Given the description of an element on the screen output the (x, y) to click on. 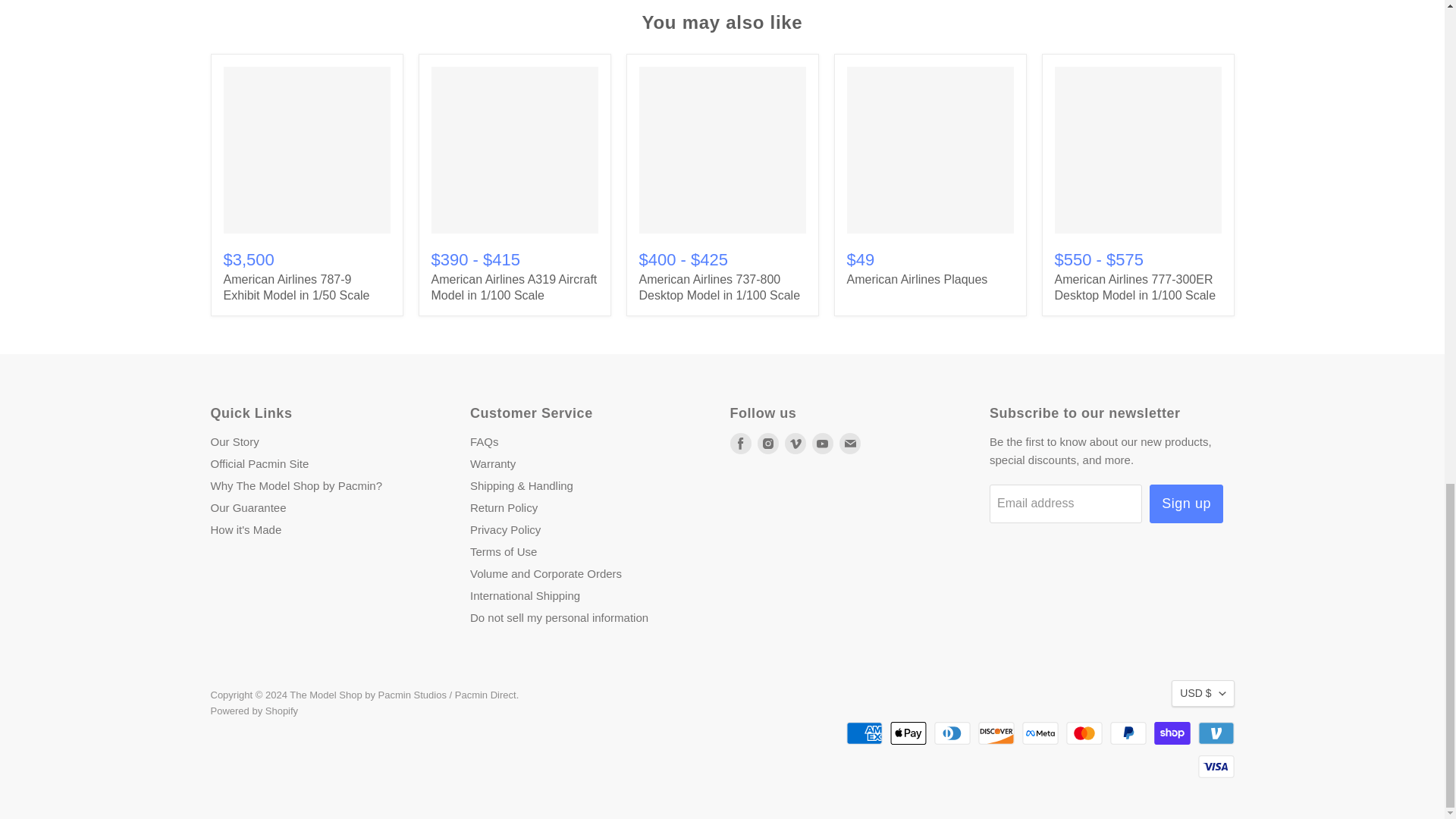
Youtube (821, 443)
Apple Pay (907, 732)
Facebook (740, 443)
Vimeo (794, 443)
American Express (863, 732)
Email (849, 443)
Instagram (767, 443)
